Given the description of an element on the screen output the (x, y) to click on. 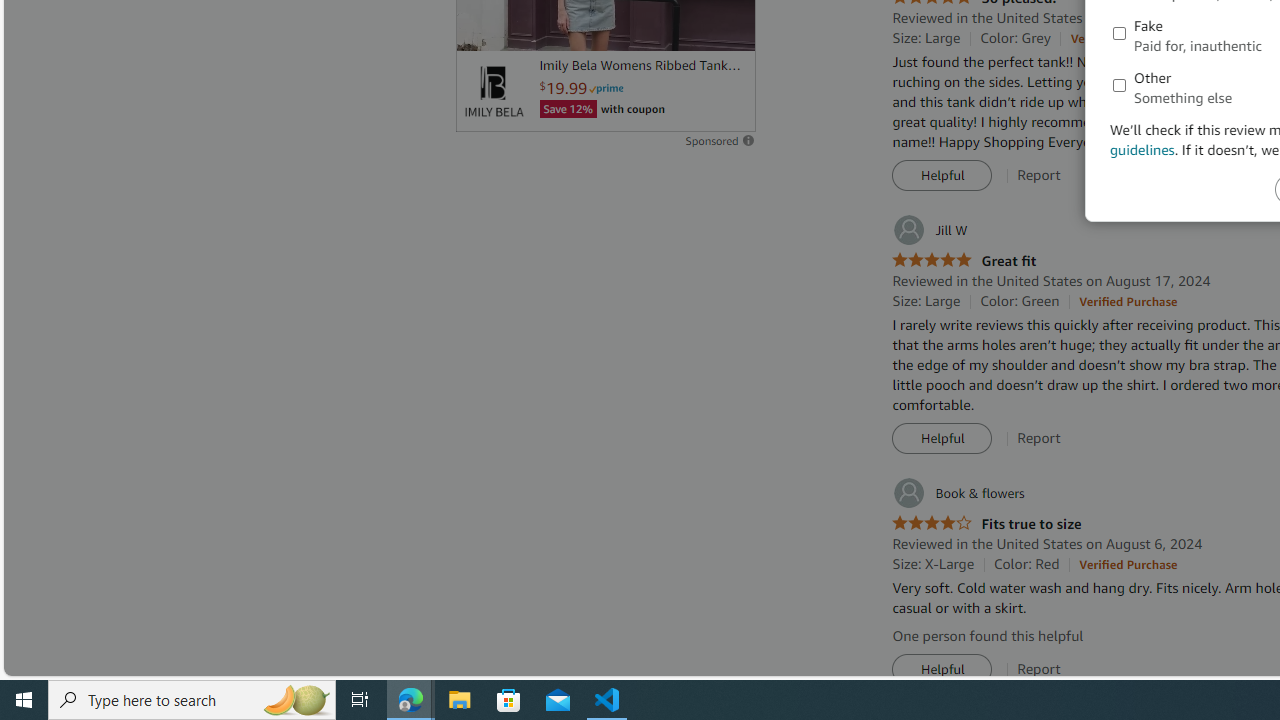
Logo (493, 91)
Unmute (729, 27)
Helpful (942, 669)
4.0 out of 5 stars Fits true to size (986, 524)
Verified Purchase (1128, 564)
5.0 out of 5 stars Great fit (964, 260)
Pause (481, 27)
Jill W (929, 230)
Report (1039, 669)
Prime (605, 88)
Book & flowers (958, 493)
